Given the description of an element on the screen output the (x, y) to click on. 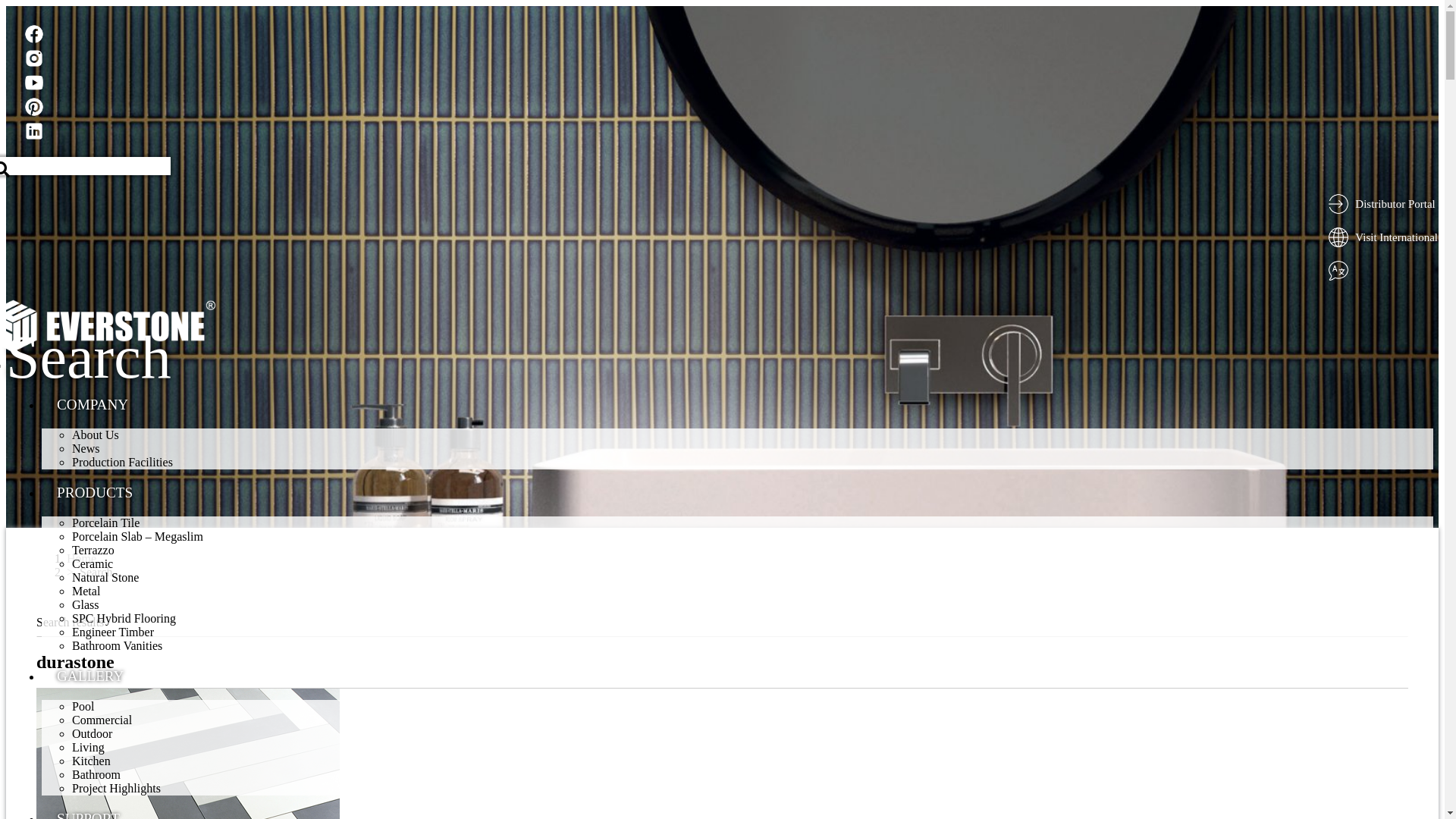
Terrazzo Element type: text (93, 549)
Porcelain Tile Element type: text (105, 522)
SPC Hybrid Flooring Element type: text (123, 617)
Follow us on Facebook Element type: hover (34, 35)
Distributor Portal Element type: text (1394, 203)
Bathroom Vanities Element type: text (117, 645)
Visit International Element type: text (1396, 236)
Production Facilities Element type: text (122, 461)
Living Element type: text (88, 746)
Glass Element type: text (85, 604)
Ceramic Element type: text (92, 563)
About Us Element type: text (95, 434)
GALLERY Element type: text (89, 675)
Pool Element type: text (83, 705)
Outdoor Element type: text (92, 733)
Bathroom Element type: text (96, 774)
Commercial Element type: text (101, 719)
Follow us on Instagram Element type: hover (34, 59)
COMPANY Element type: text (92, 404)
Natural Stone Element type: text (105, 577)
Engineer Timber Element type: text (112, 631)
PRODUCTS Element type: text (94, 492)
Follow us on Youtube Element type: hover (34, 84)
Follow us on Pinterest Element type: hover (34, 108)
Metal Element type: text (86, 590)
Project Highlights Element type: text (116, 787)
Kitchen Element type: text (91, 760)
Follow us on LinkedIn Element type: hover (34, 132)
Home Element type: text (81, 558)
News Element type: text (85, 448)
